Given the description of an element on the screen output the (x, y) to click on. 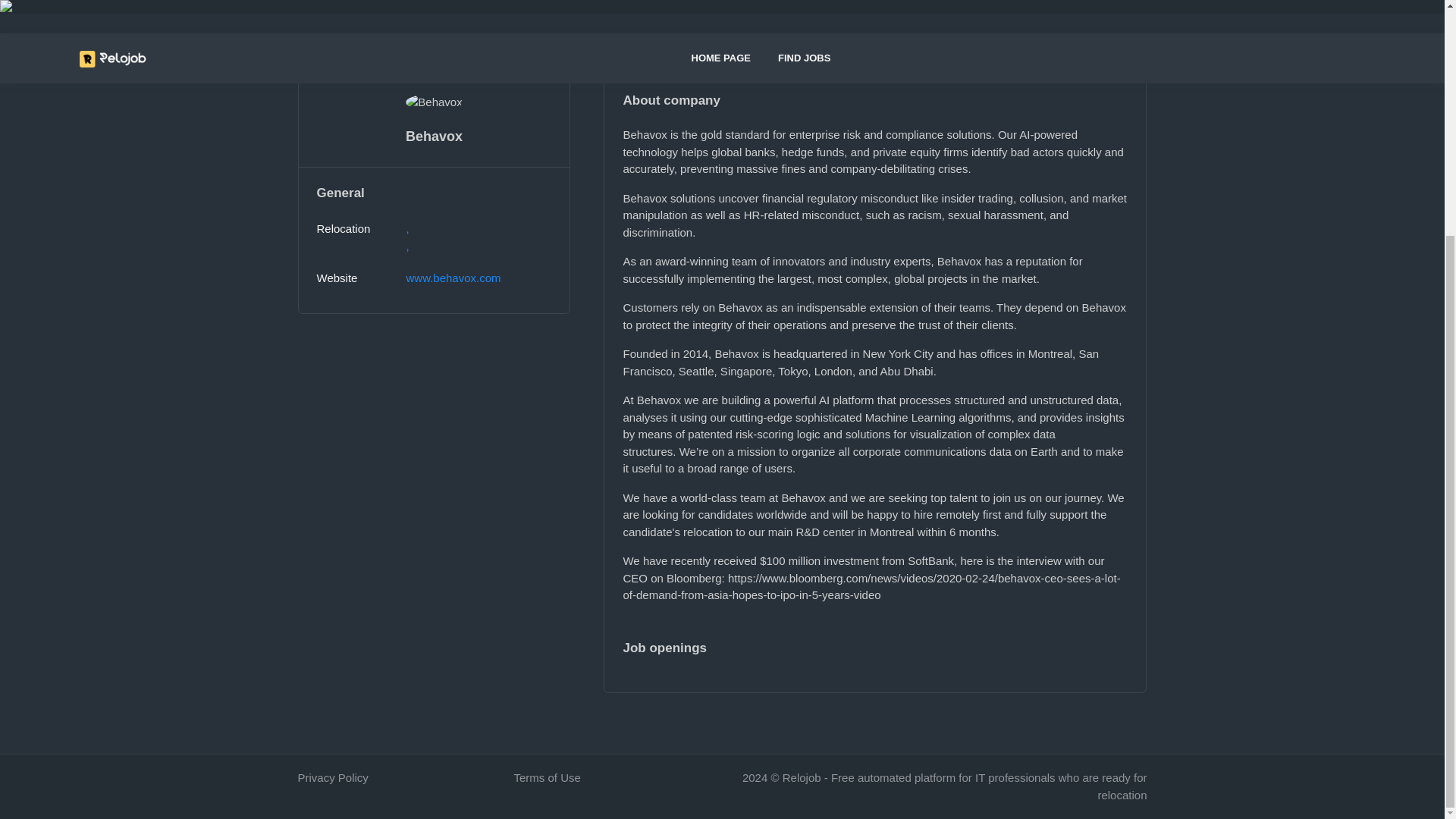
www.behavox.com (453, 277)
Privacy Policy (332, 777)
Terms of Use (546, 777)
